Given the description of an element on the screen output the (x, y) to click on. 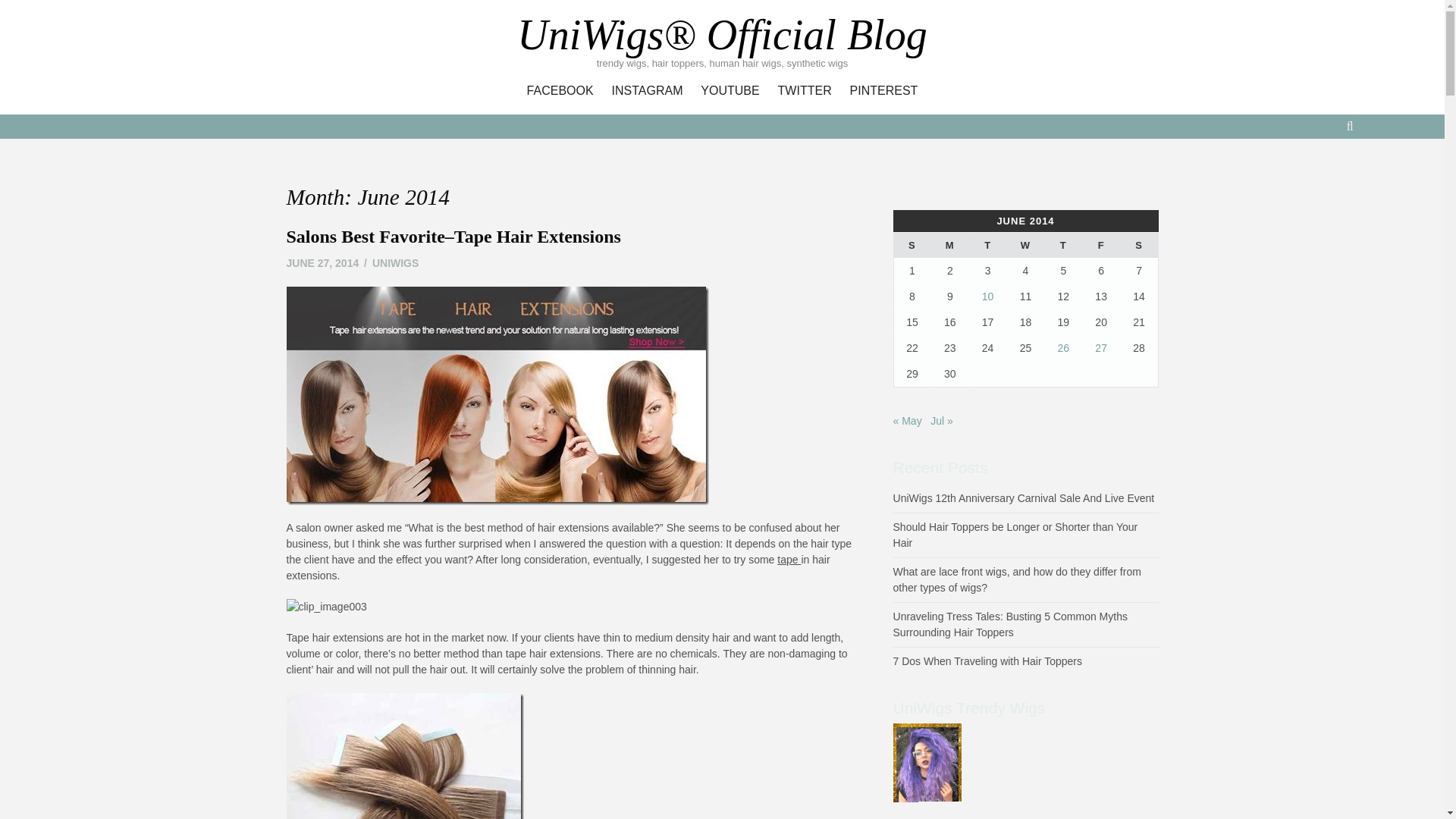
27 (1100, 347)
Should Hair Toppers be Longer or Shorter than Your Hair (1015, 534)
PINTEREST (884, 91)
Search (730, 123)
FACEBOOK (560, 91)
Friday (1100, 245)
10 (987, 296)
26 (1064, 347)
